Given the description of an element on the screen output the (x, y) to click on. 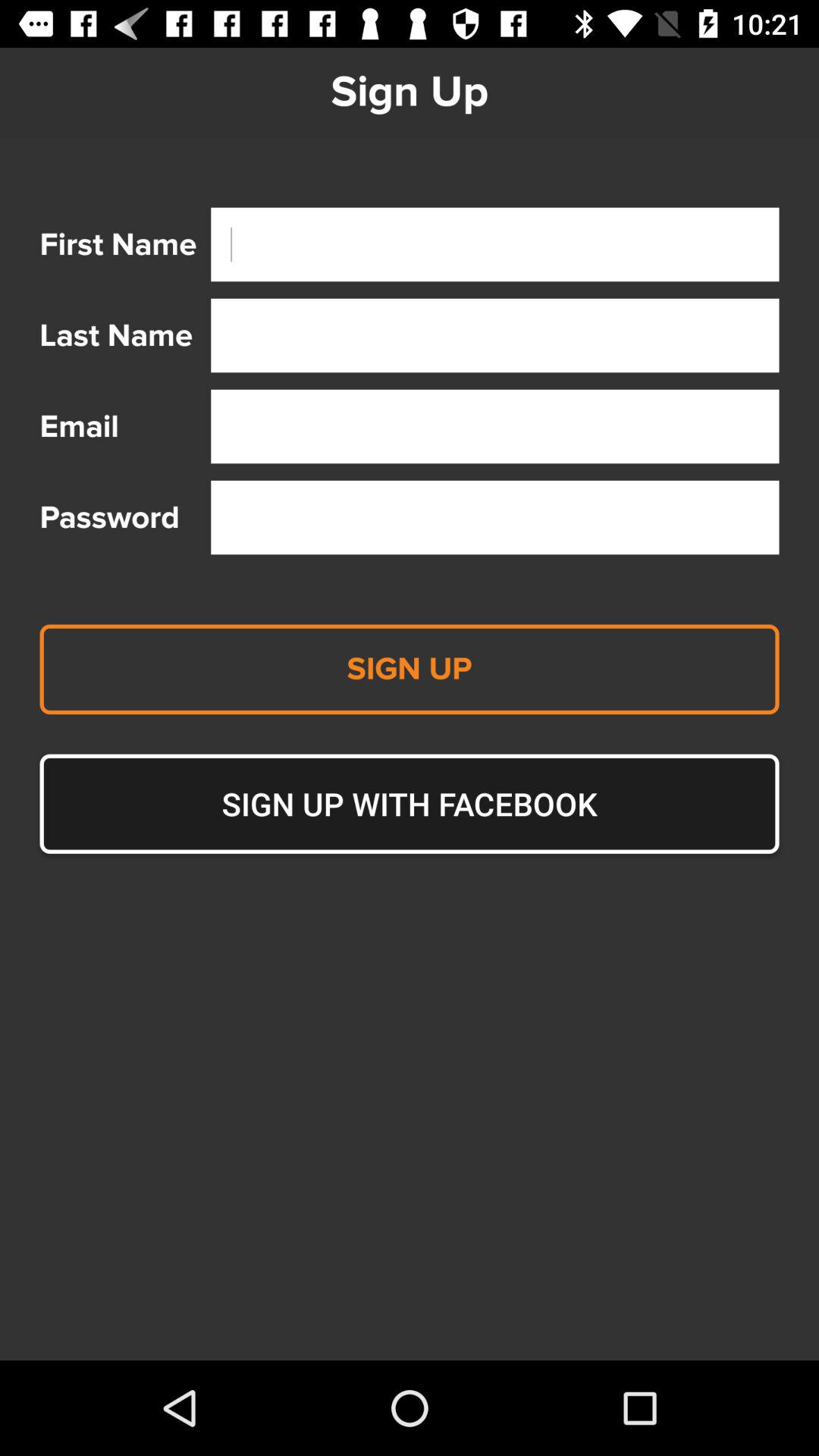
add first name (495, 244)
